Given the description of an element on the screen output the (x, y) to click on. 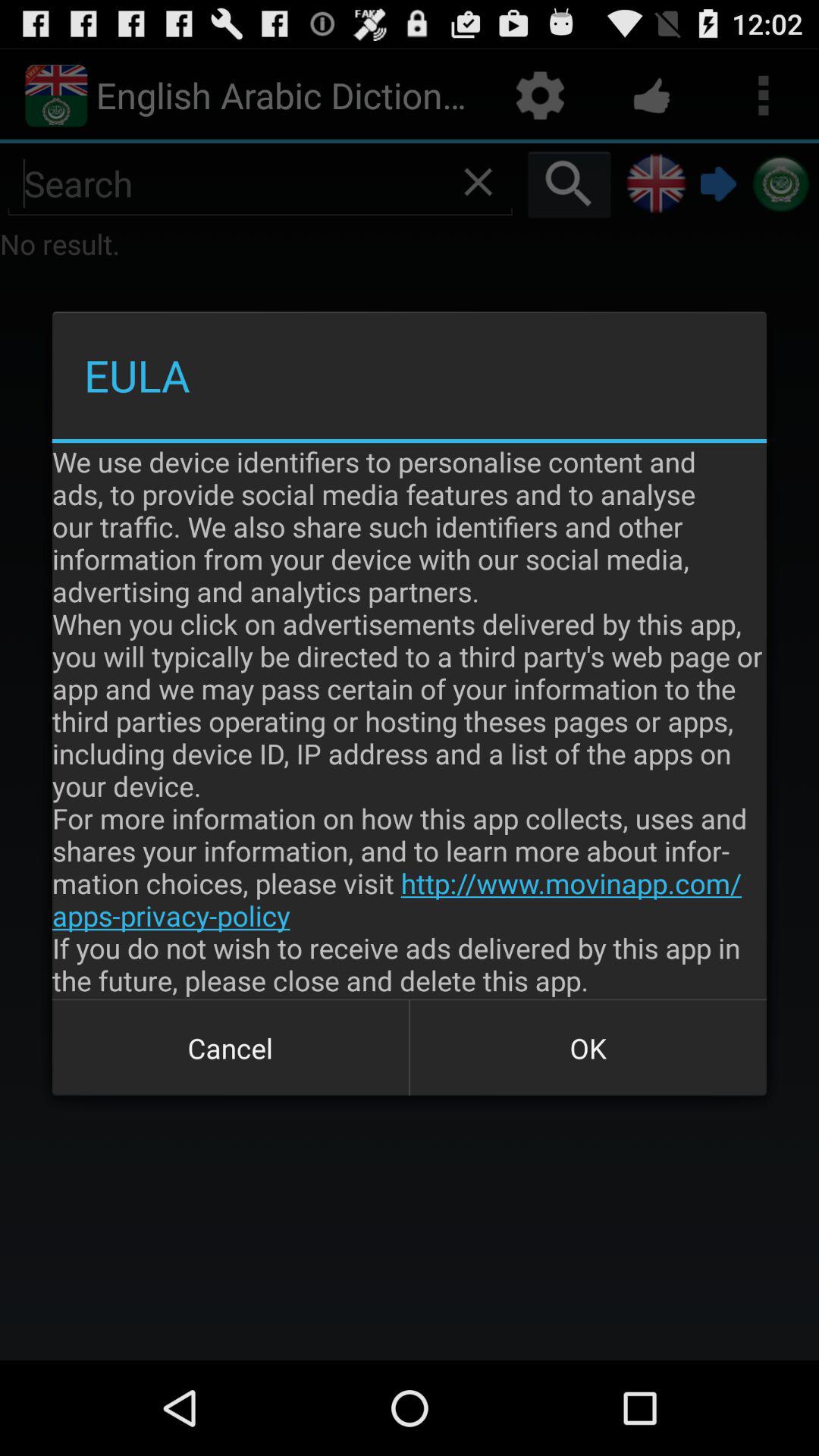
click the item above cancel (409, 721)
